Given the description of an element on the screen output the (x, y) to click on. 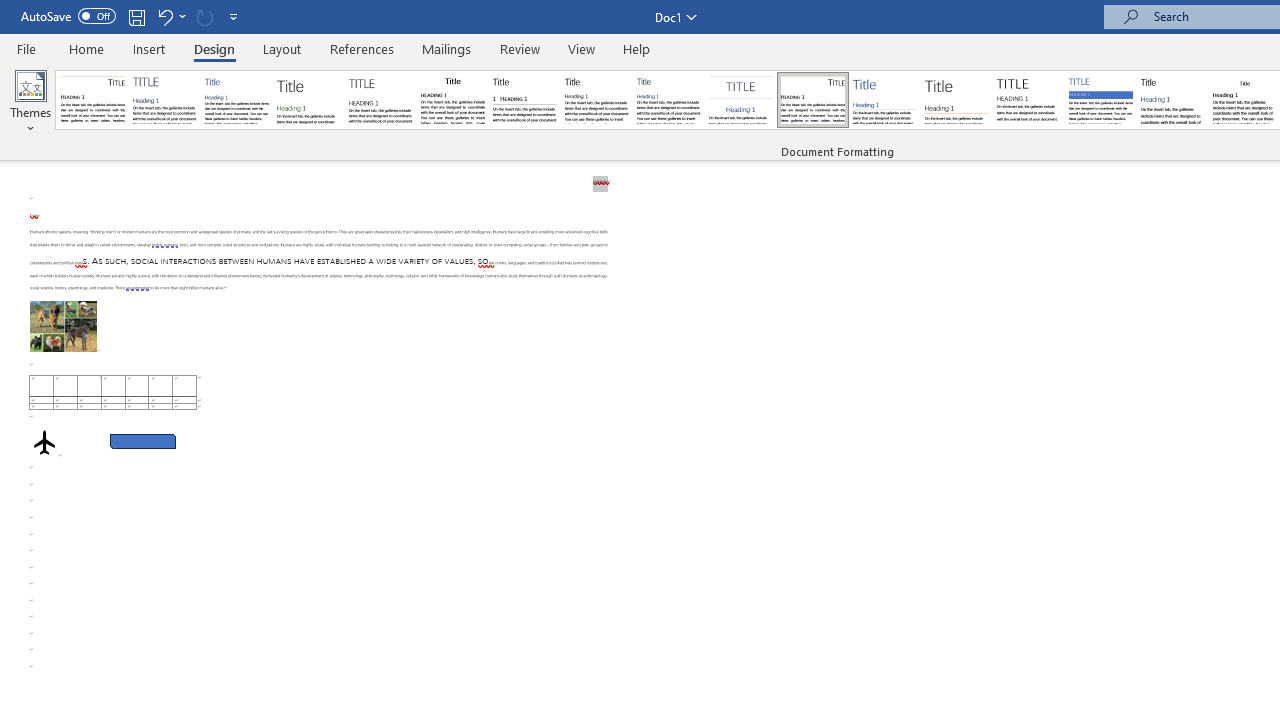
Undo Apply Quick Style Set (170, 15)
Basic (Simple) (236, 100)
Basic (Elegant) (164, 100)
Lines (Distinctive) (812, 100)
Lines (Stylish) (957, 100)
Can't Repeat (204, 15)
Black & White (Classic) (452, 100)
